Given the description of an element on the screen output the (x, y) to click on. 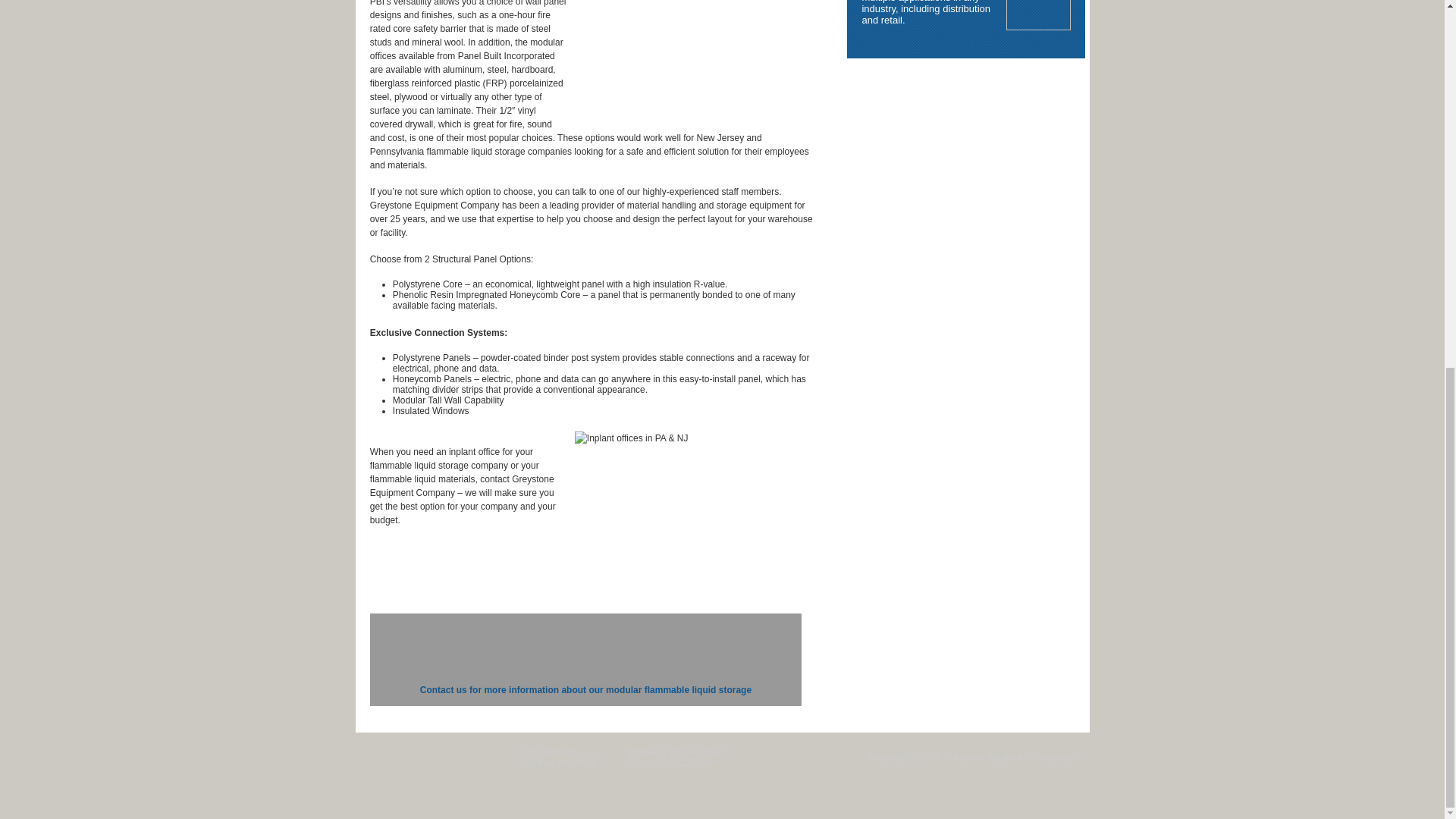
GREYSTONE EQUIPMENT COMPANY (433, 756)
pic3 (1038, 15)
